Given the description of an element on the screen output the (x, y) to click on. 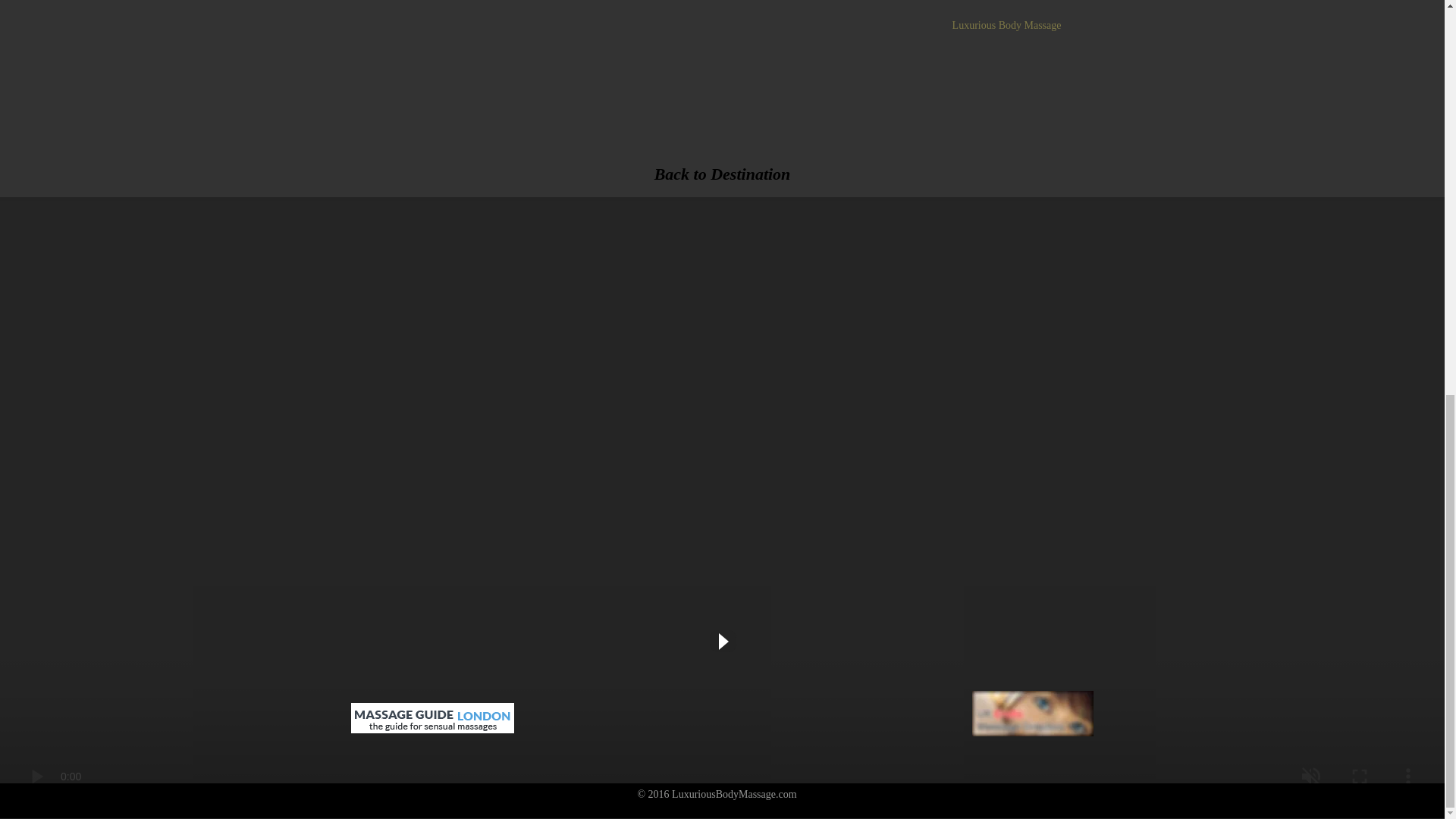
Back to Destination (722, 174)
